Given the description of an element on the screen output the (x, y) to click on. 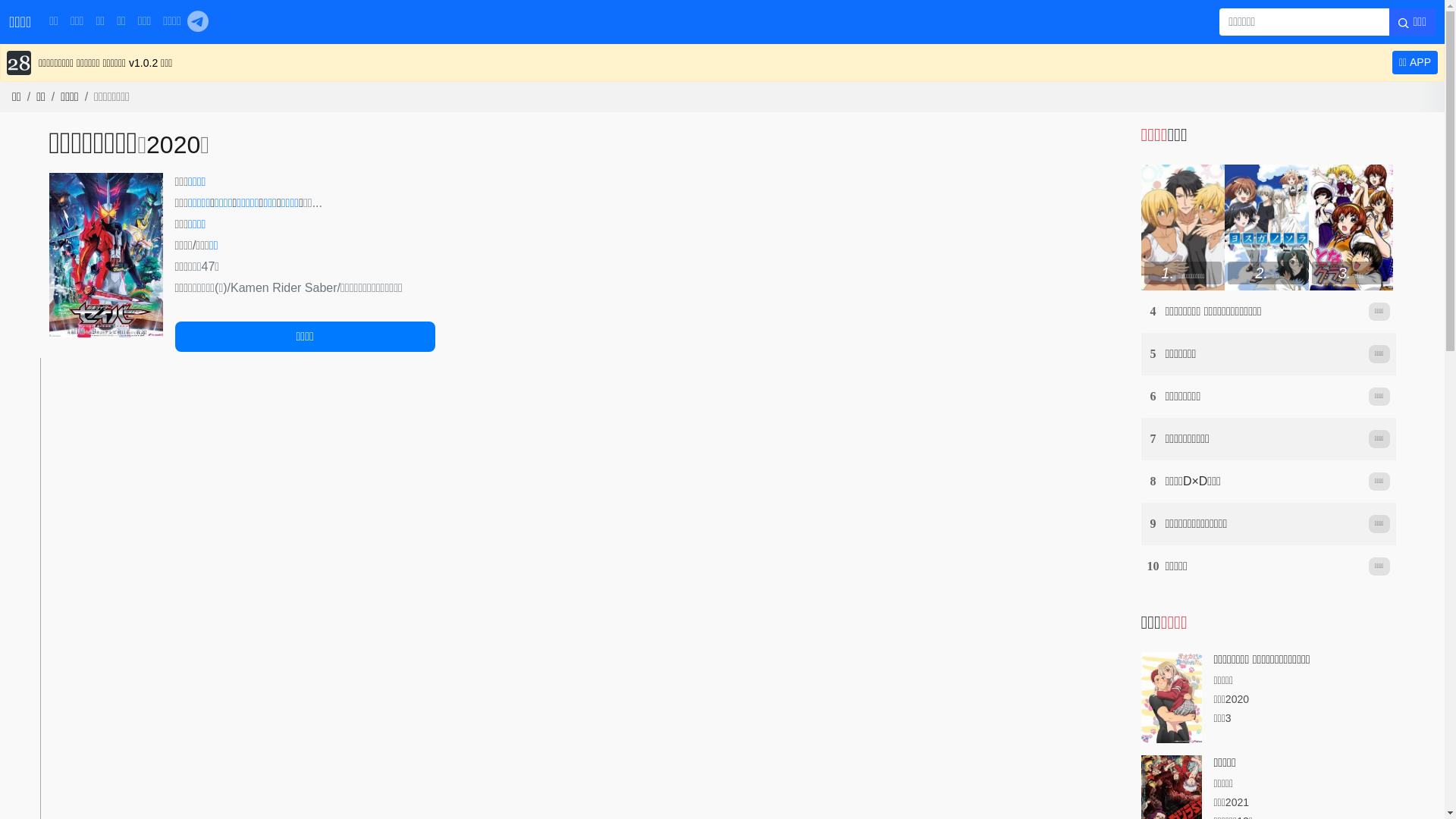
2020 Element type: text (173, 144)
